Given the description of an element on the screen output the (x, y) to click on. 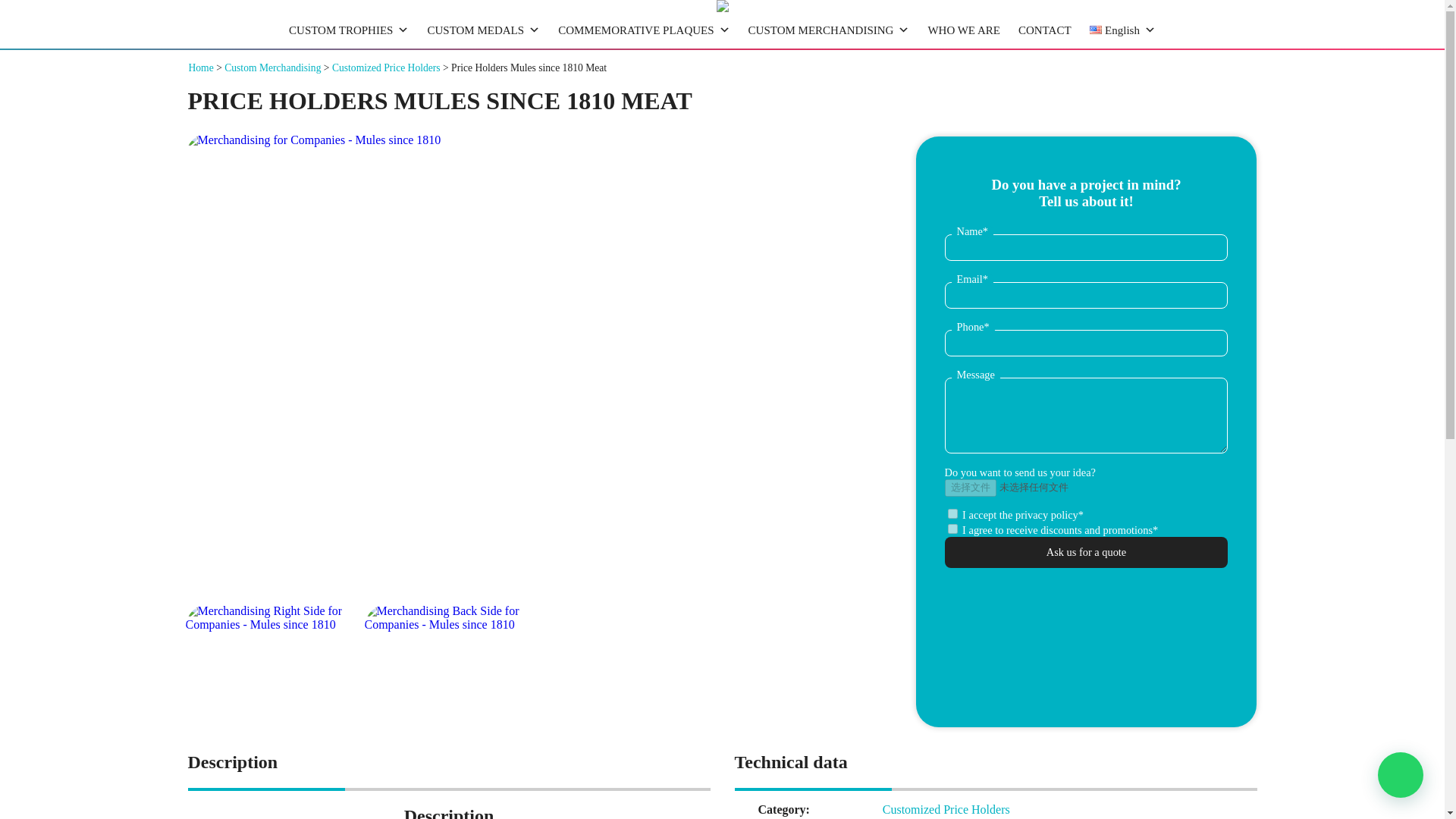
CUSTOM TROPHIES (348, 30)
My Printing Factory 3D (722, 7)
Ask us for a quote (1086, 552)
